Given the description of an element on the screen output the (x, y) to click on. 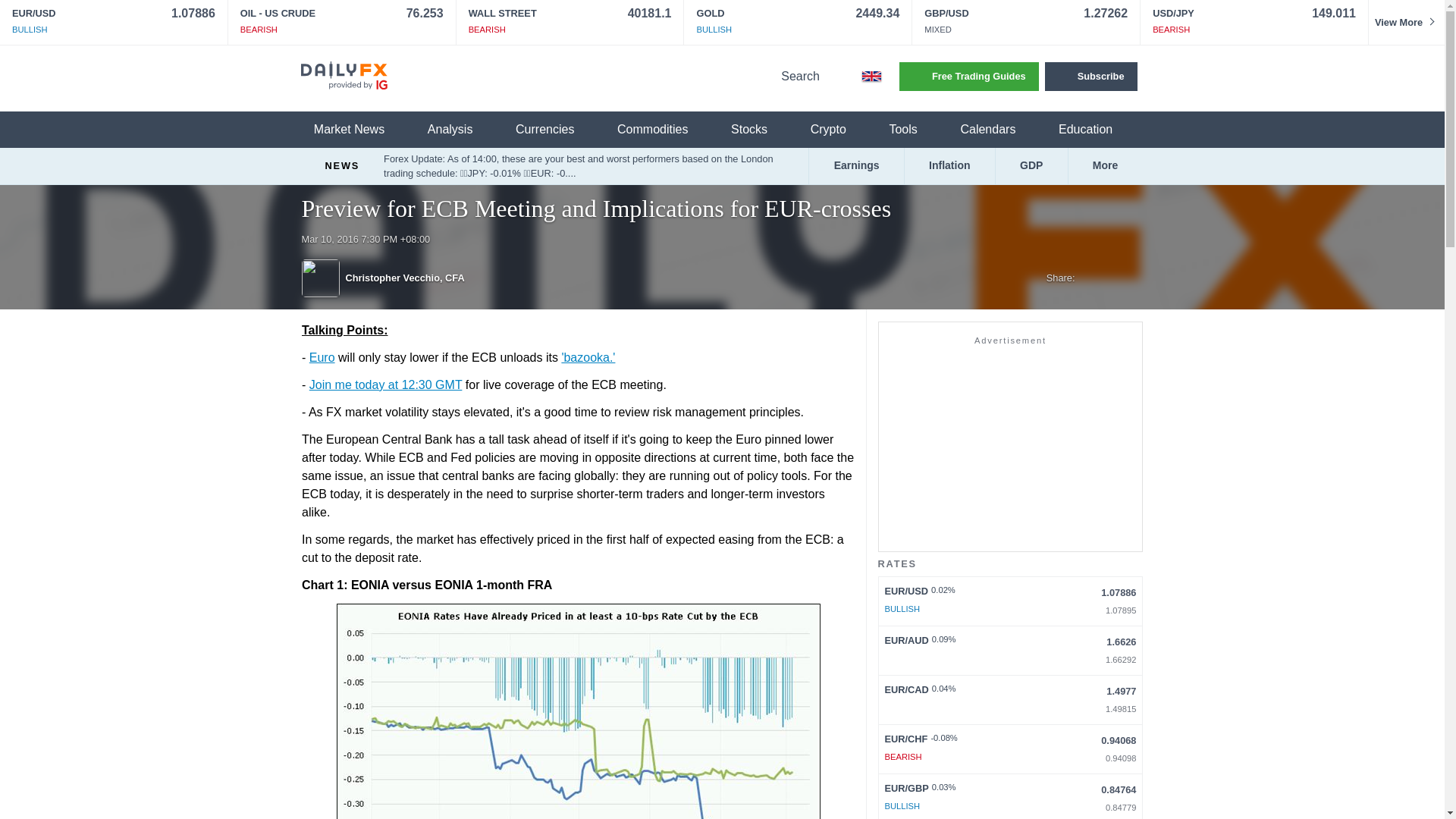
Currencies (554, 129)
Subscribe (1091, 76)
Euro (321, 357)
Market News (357, 129)
Analysis (458, 129)
Free Trading Guides (969, 76)
